Given the description of an element on the screen output the (x, y) to click on. 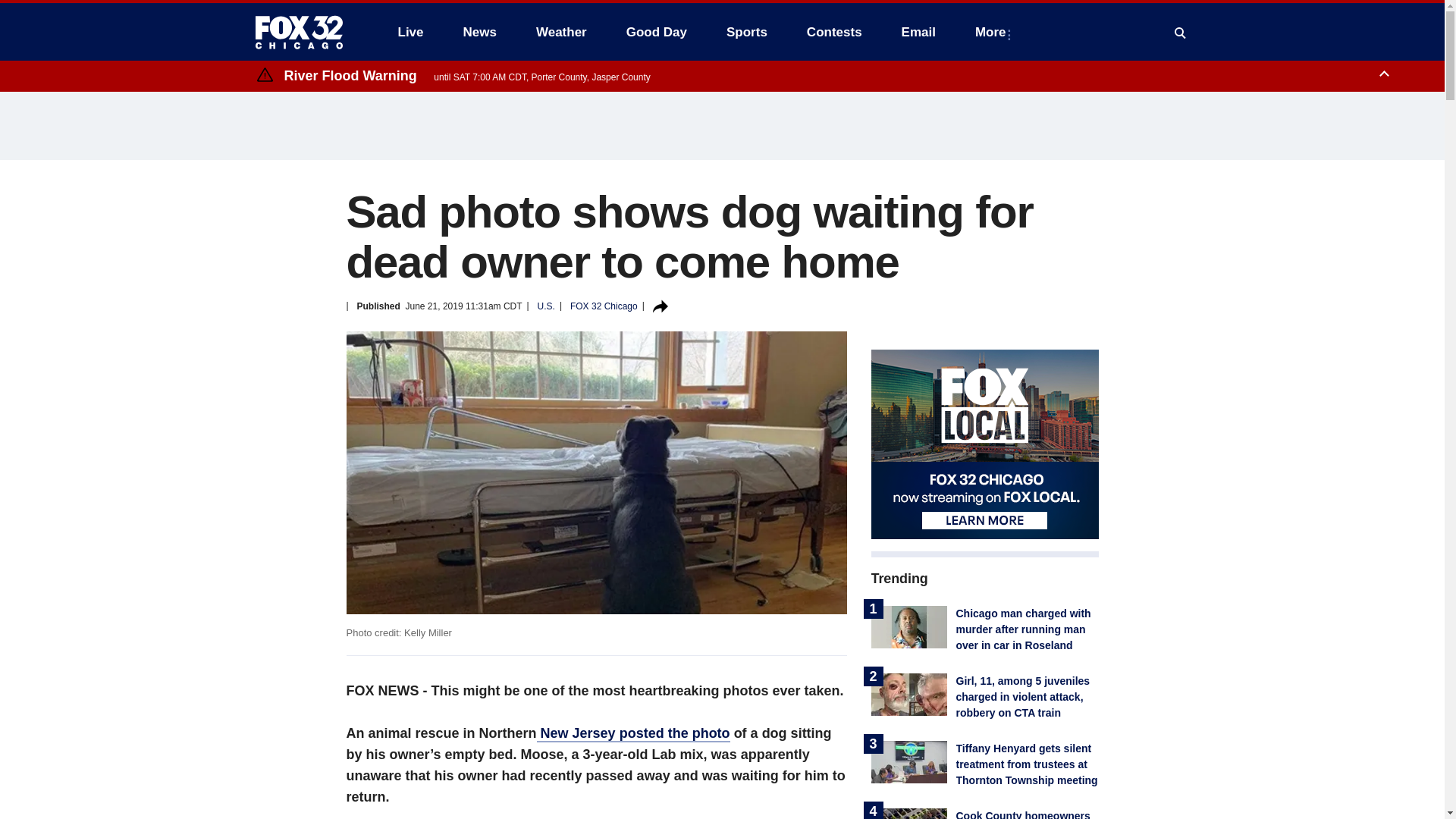
More (993, 32)
Weather (561, 32)
News (479, 32)
Good Day (656, 32)
Email (918, 32)
Live (410, 32)
Sports (746, 32)
Contests (834, 32)
